Given the description of an element on the screen output the (x, y) to click on. 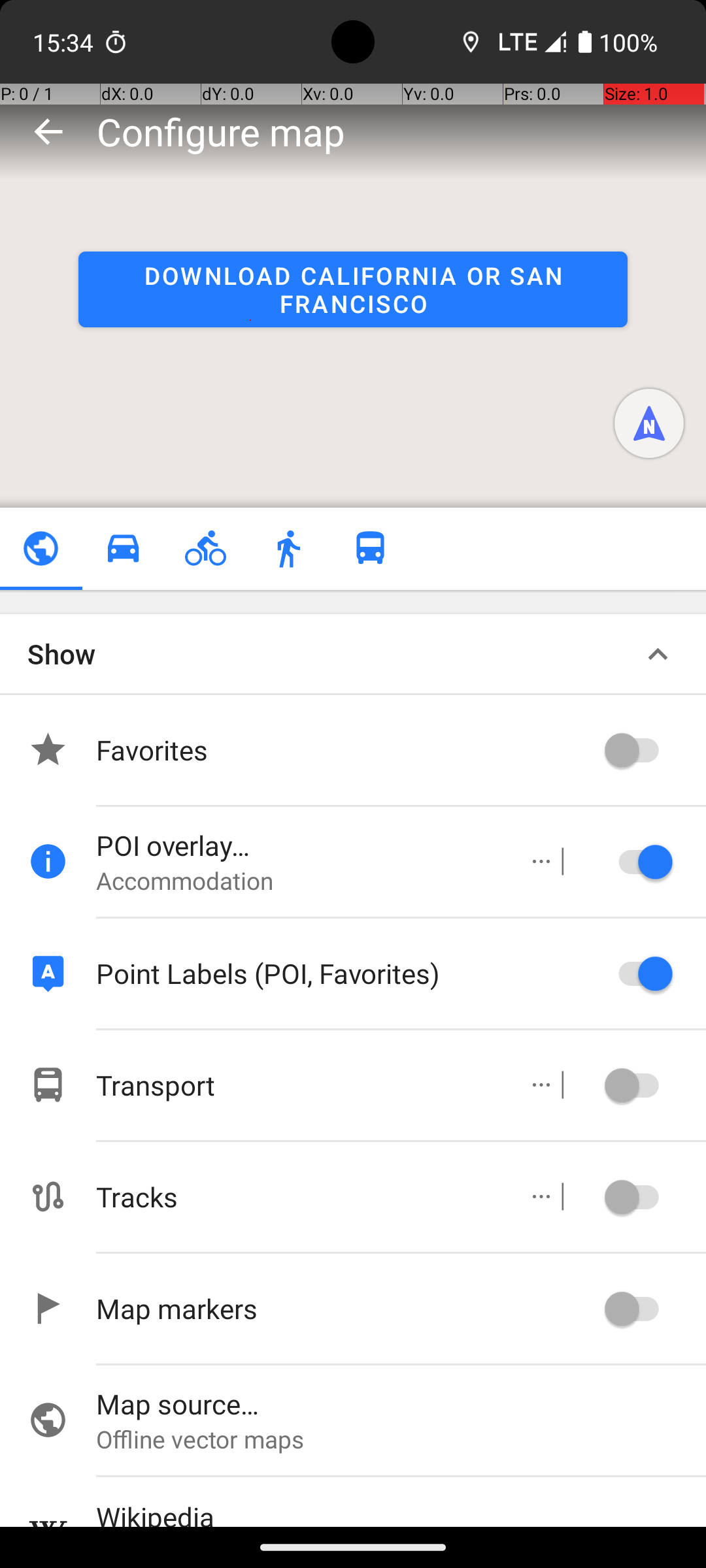
Back to map Element type: android.widget.ImageButton (48, 131)
Movement direction Element type: android.widget.ImageButton (649, 423)
DOWNLOAD CALIFORNIA OR SAN FRANCISCO Element type: android.widget.Button (352, 289)
Browse map checked Element type: android.widget.ImageView (40, 548)
Show Element type: android.widget.TextView (61, 653)
POI overlay… Element type: android.widget.TextView (298, 844)
Accommodation Element type: android.widget.TextView (298, 880)
Point Labels (POI, Favorites) Element type: android.widget.TextView (346, 972)
Transport Element type: android.widget.TextView (298, 1084)
Map source… Element type: android.widget.TextView (401, 1403)
Offline vector maps Element type: android.widget.TextView (401, 1438)
